Given the description of an element on the screen output the (x, y) to click on. 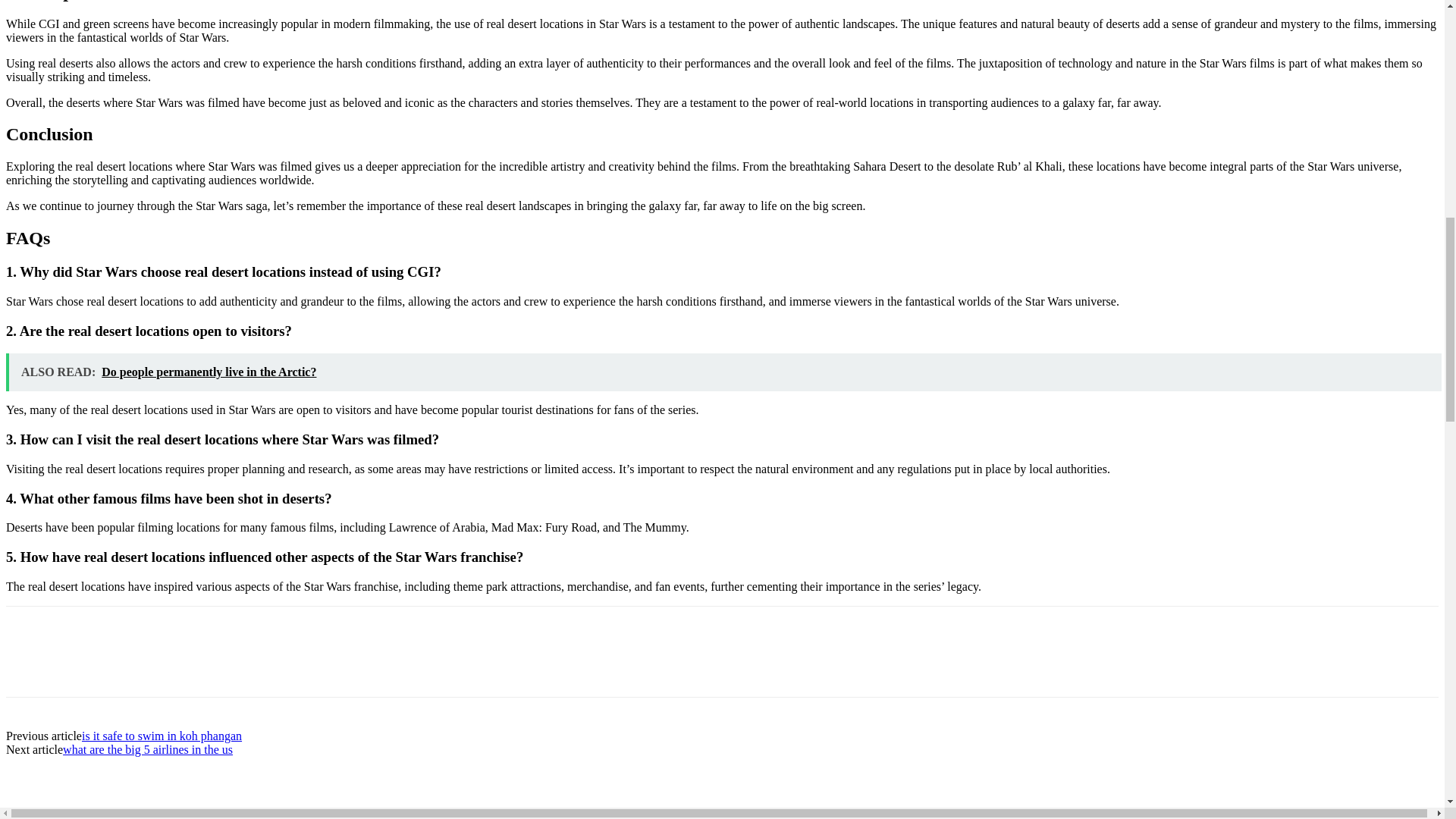
bottomFacebookLike (118, 630)
ALSO READ:  Do people permanently live in the Arctic? (723, 371)
is it safe to swim in koh phangan (161, 735)
what are the big 5 airlines in the us (147, 748)
